Given the description of an element on the screen output the (x, y) to click on. 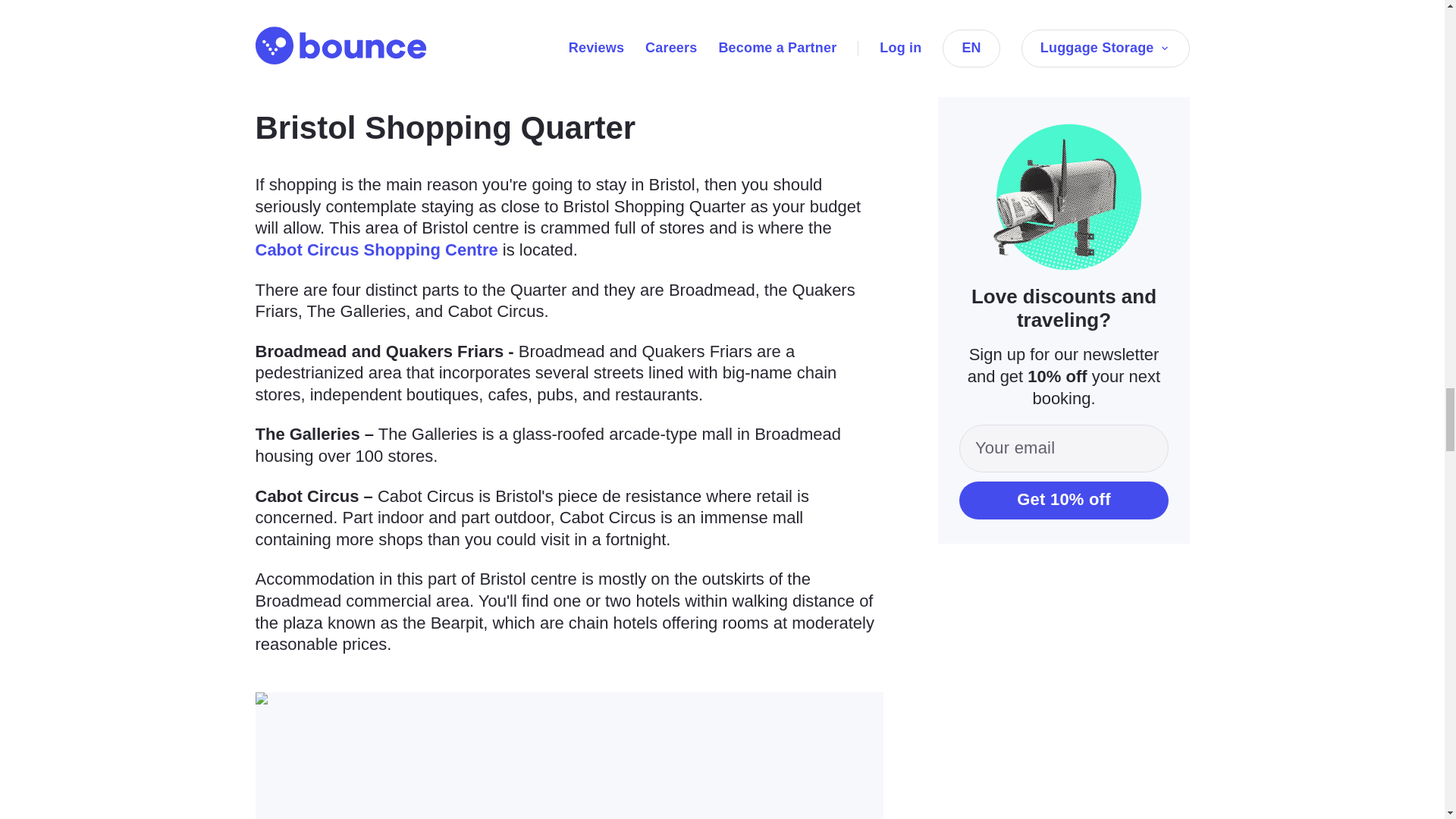
Cabot Circus Shopping Centre (375, 249)
